Given the description of an element on the screen output the (x, y) to click on. 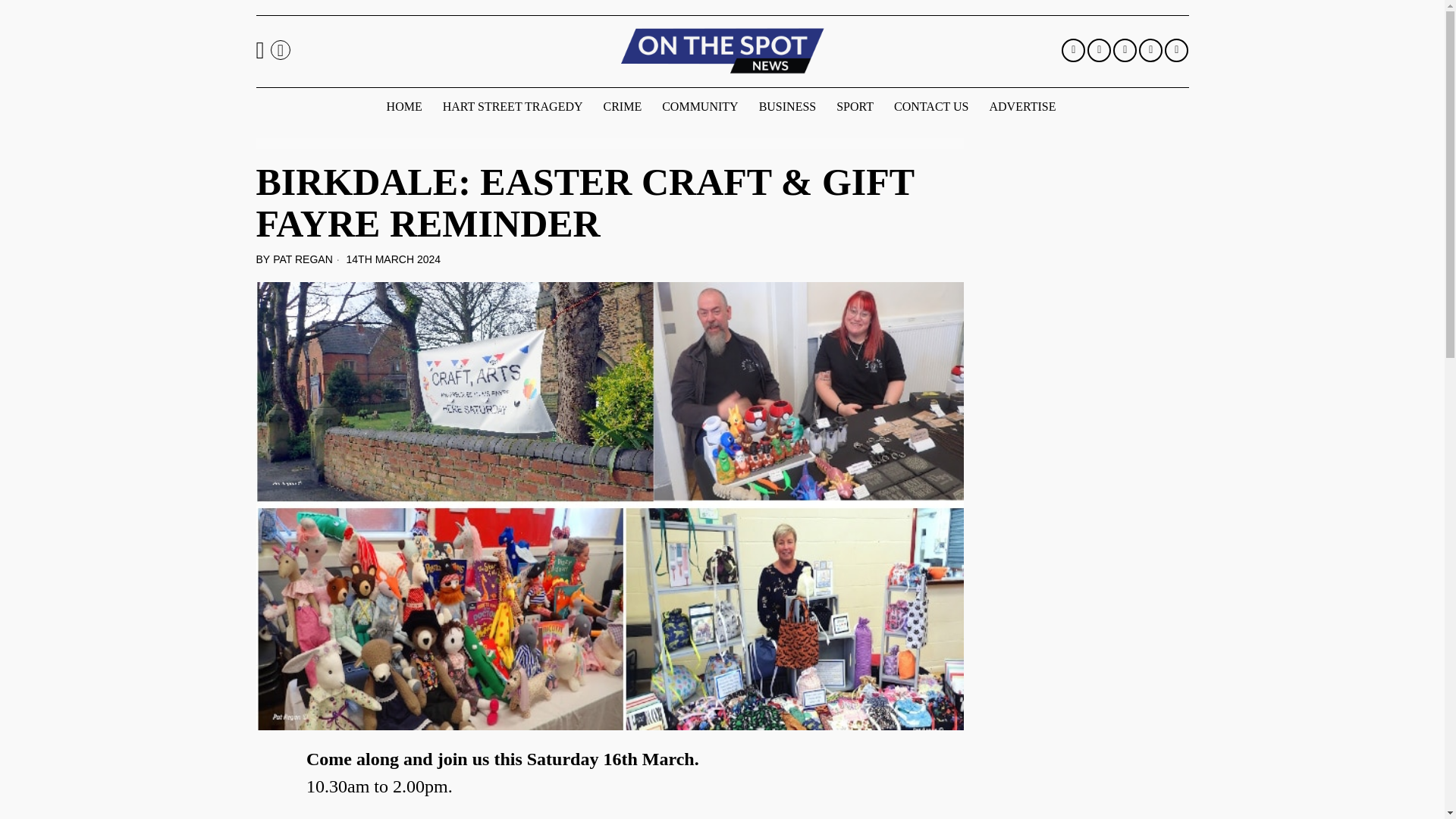
CRIME (623, 106)
14 Mar, 2024 14:20:46 (387, 259)
BUSINESS (788, 106)
COMMUNITY (700, 106)
HART STREET TRAGEDY (513, 106)
PAT REGAN (303, 259)
SPORT (856, 106)
CONTACT US (932, 106)
ADVERTISE (1023, 106)
HOME (405, 106)
